Given the description of an element on the screen output the (x, y) to click on. 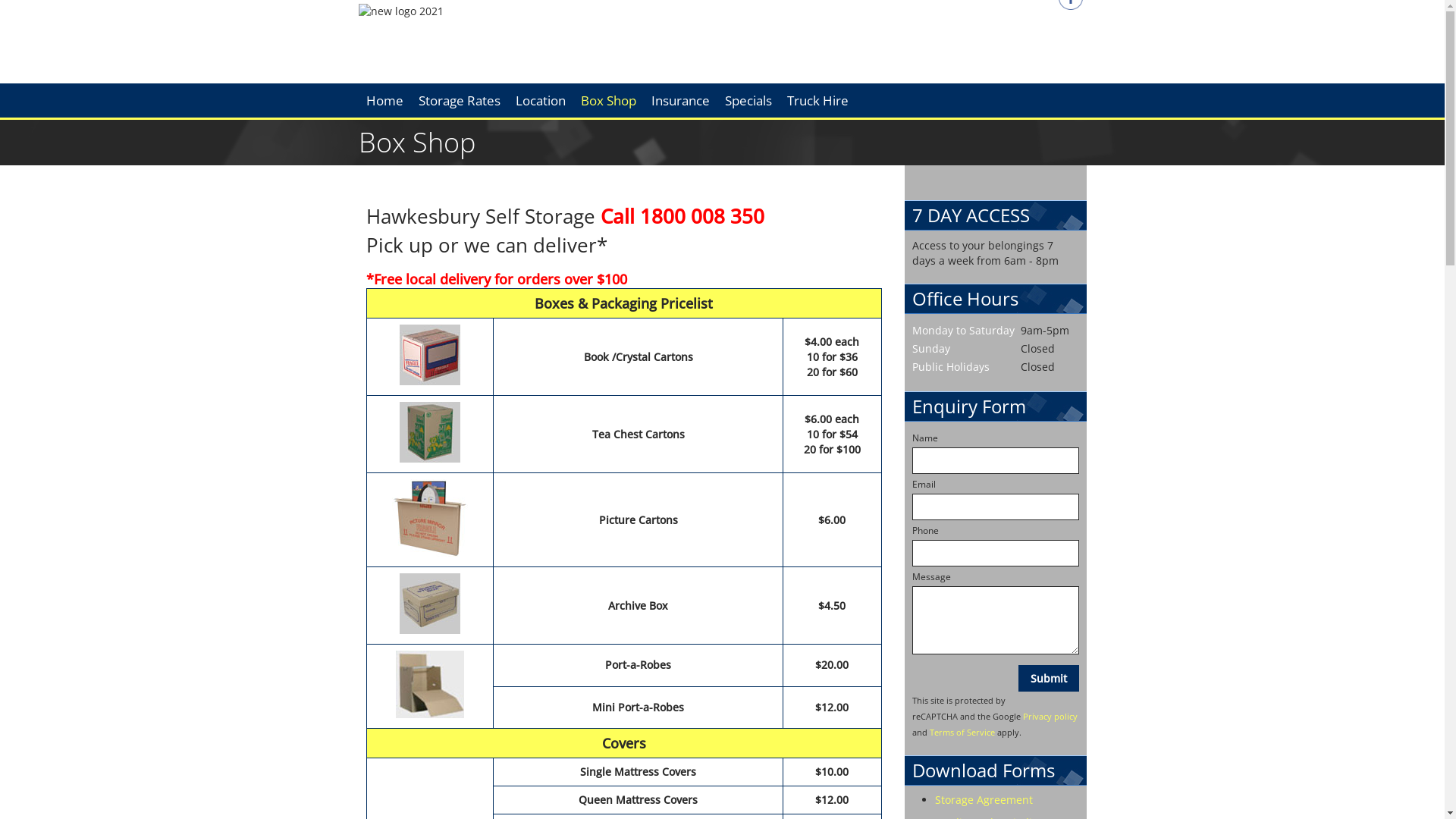
Location Element type: text (540, 100)
Privacy policy Element type: text (1049, 715)
Submit Element type: text (1047, 678)
Specials Element type: text (748, 100)
Truck Hire Element type: text (817, 100)
Storage Rates Element type: text (459, 100)
Terms of Service Element type: text (961, 731)
Box Shop Element type: text (608, 100)
Insurance Element type: text (679, 100)
Home Element type: text (383, 100)
Storage Agreement Element type: text (983, 799)
new logo 2021 Element type: hover (399, 10)
